Given the description of an element on the screen output the (x, y) to click on. 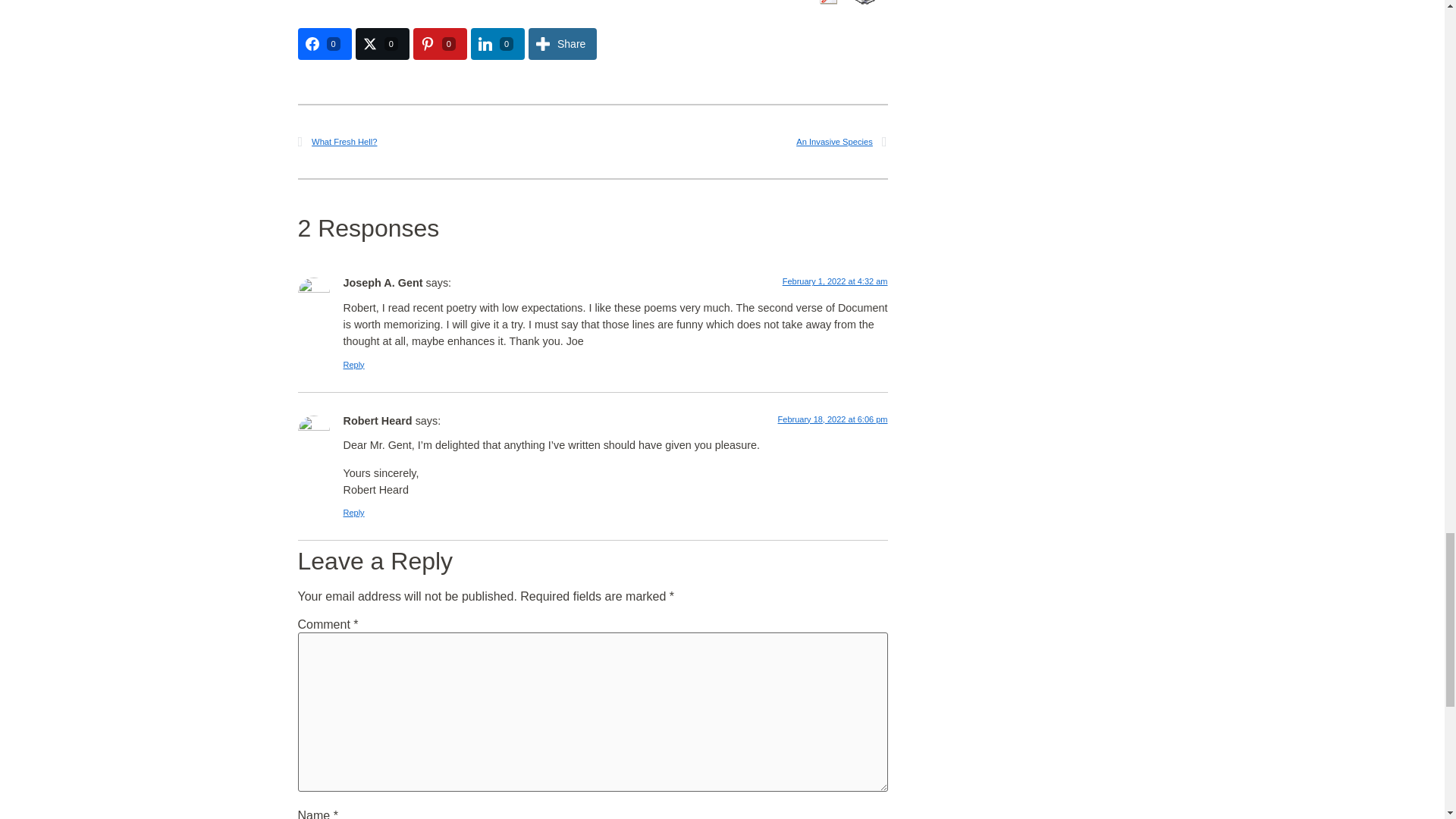
Share on Pinterest (440, 43)
Share on Facebook (323, 43)
0 (440, 43)
Share on LinkedIn (497, 43)
View PDF (824, 4)
Share on Share (562, 43)
Print Content (863, 4)
0 (382, 43)
Share on Twitter (382, 43)
0 (323, 43)
